Given the description of an element on the screen output the (x, y) to click on. 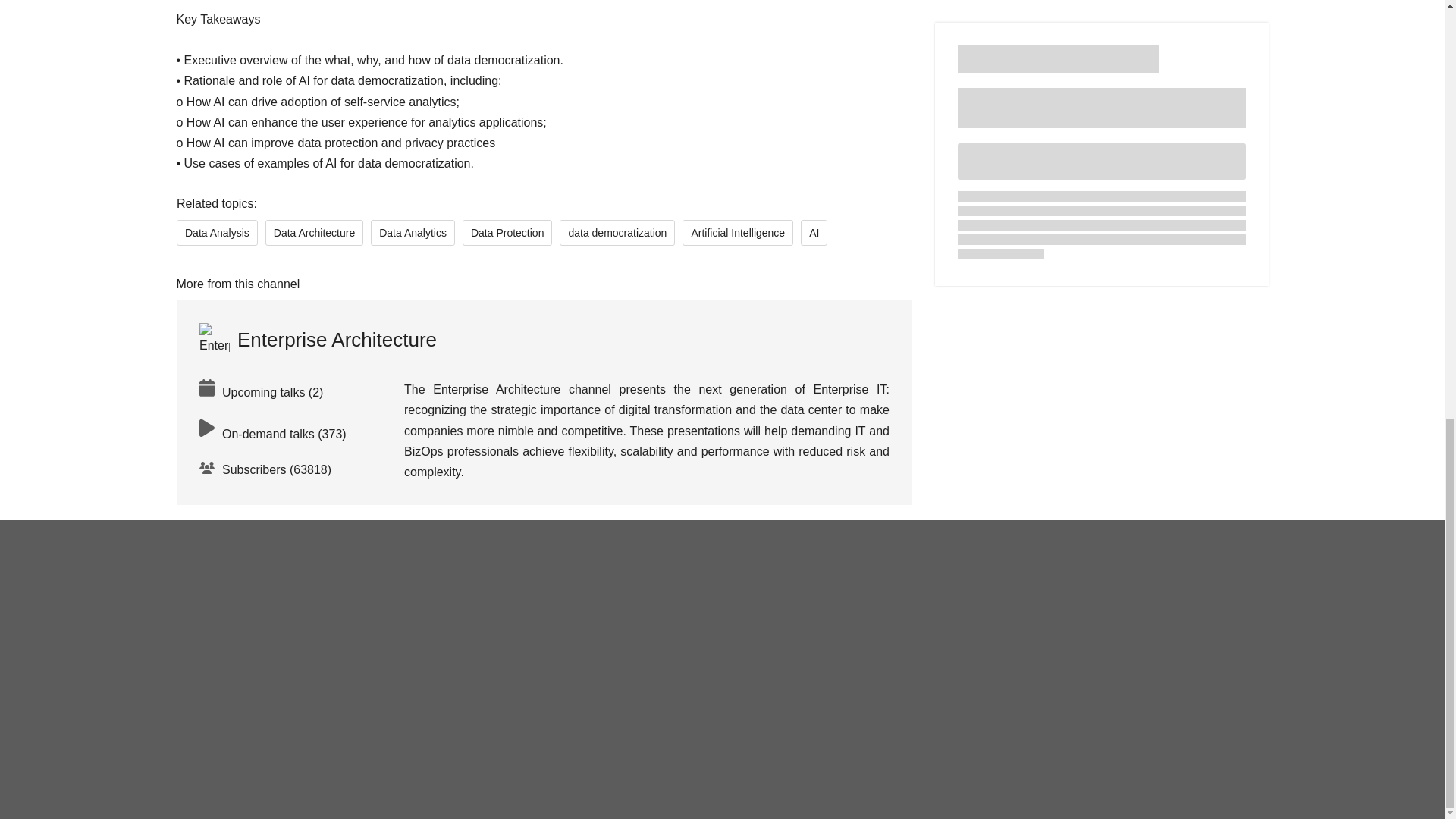
Data Analytics (412, 232)
Data Architecture (313, 232)
Enterprise Architecture (316, 339)
Data Protection (506, 232)
AI (813, 232)
data democratization (617, 232)
Data Analysis (216, 232)
Visit Enterprise Architecture's channel (316, 339)
Artificial Intelligence (737, 232)
